Given the description of an element on the screen output the (x, y) to click on. 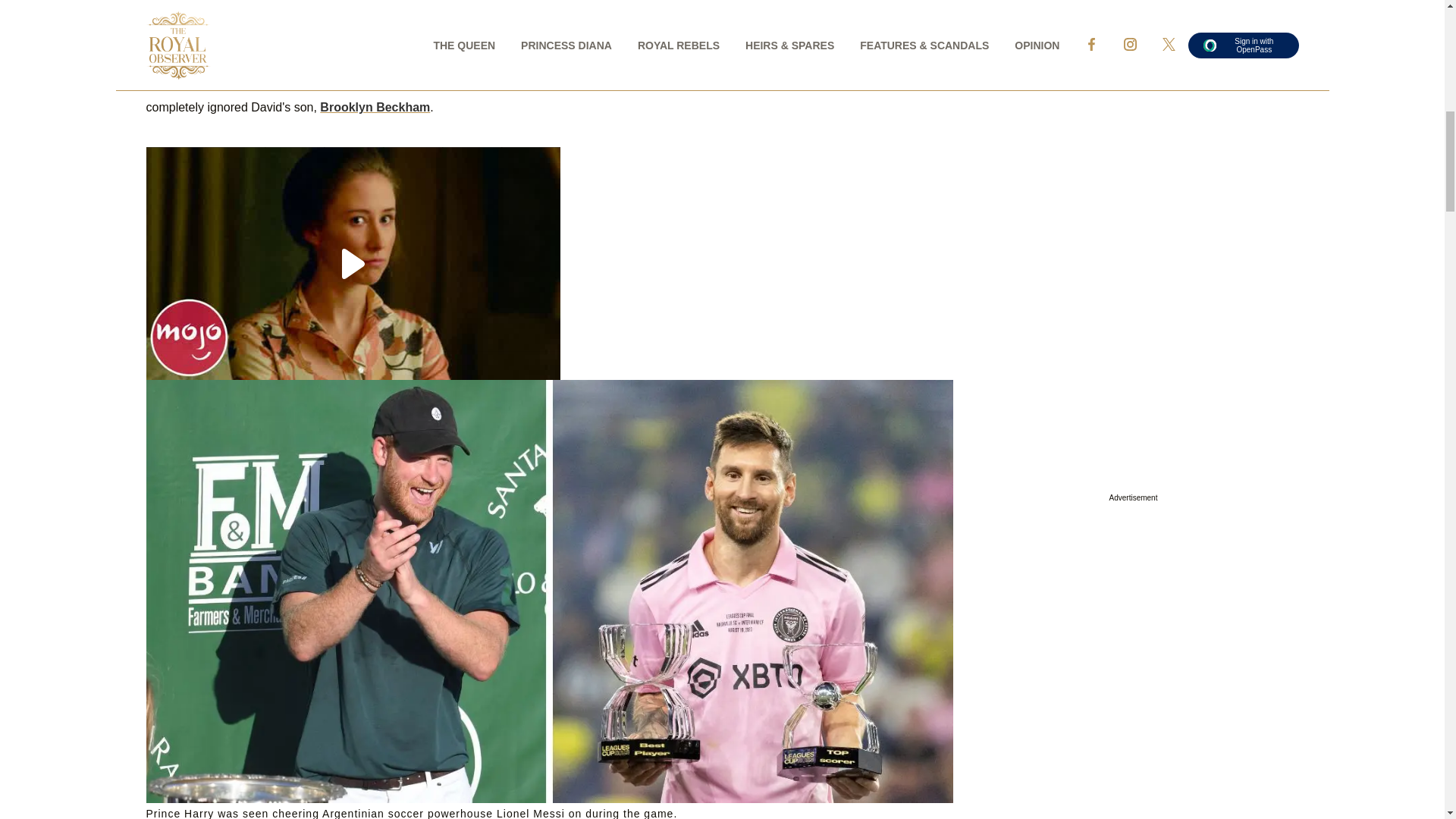
David Beckham (543, 70)
1 Comment (186, 11)
Brooklyn Beckham (374, 106)
Prince Harry (180, 58)
